Given the description of an element on the screen output the (x, y) to click on. 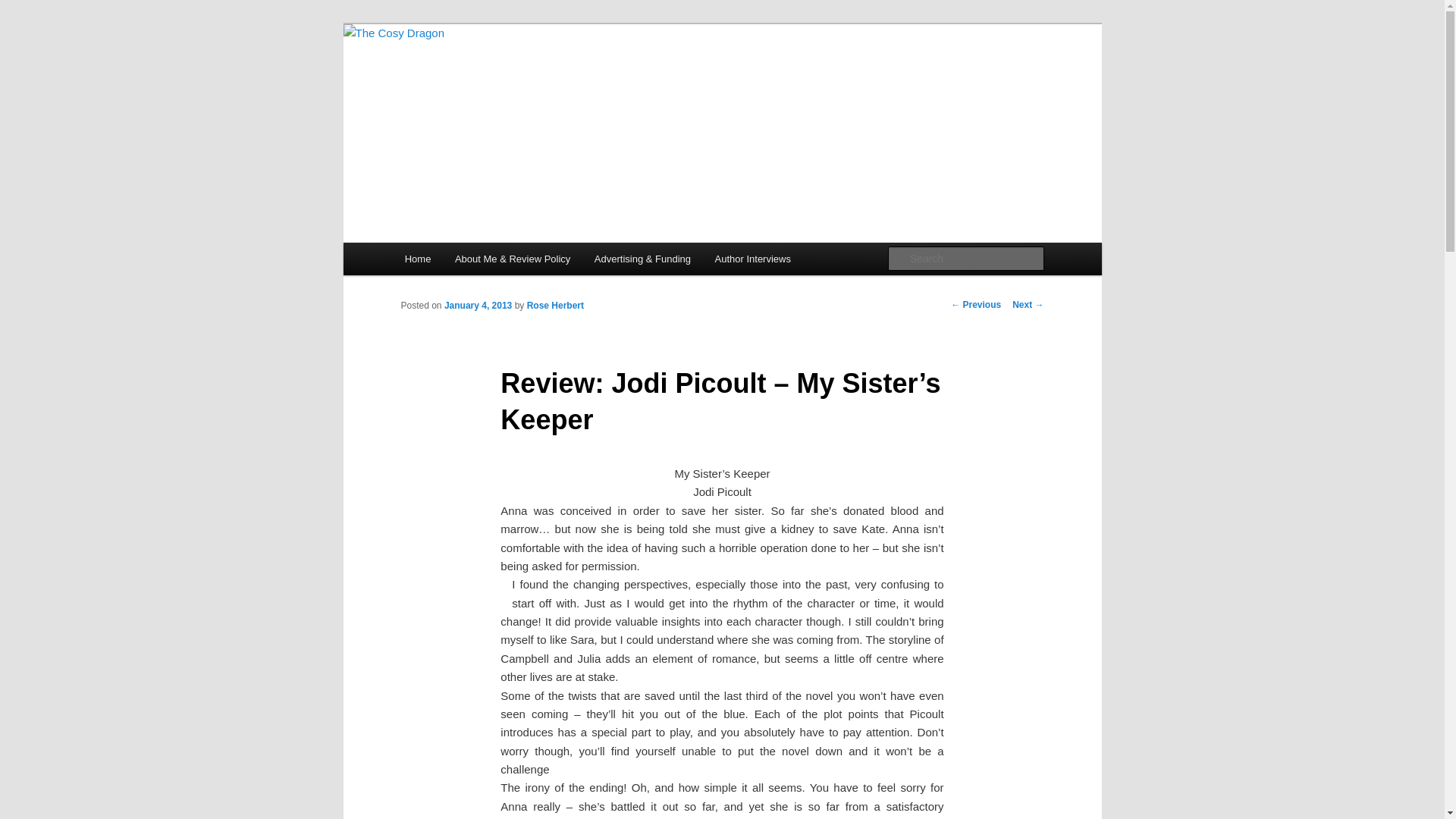
Author Interviews (753, 258)
The Cosy Dragon (494, 78)
View all posts by Rose Herbert (555, 305)
Home (417, 258)
January 4, 2013 (478, 305)
9:49 pm (478, 305)
Search (24, 8)
Rose Herbert (555, 305)
